Given the description of an element on the screen output the (x, y) to click on. 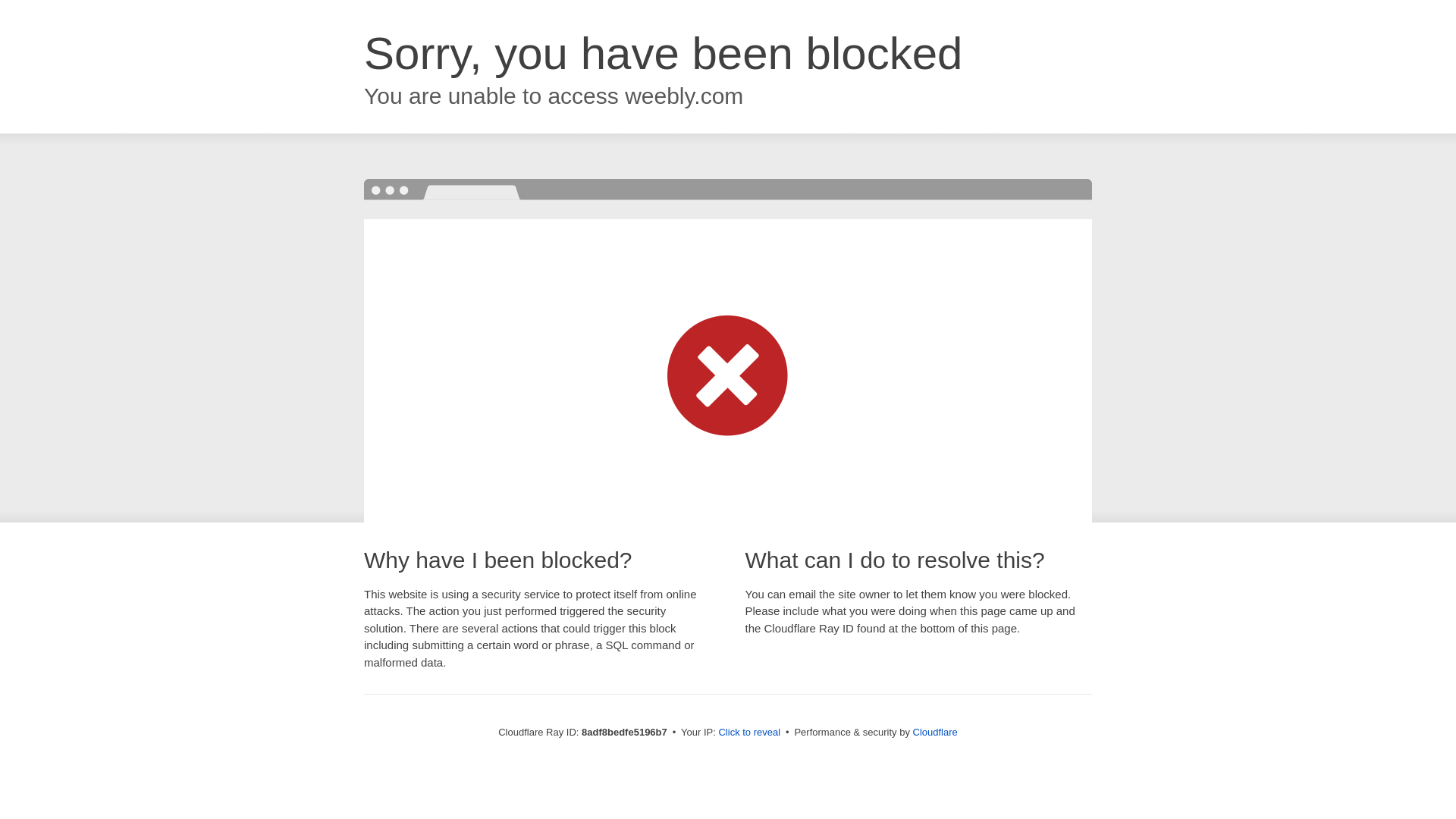
Click to reveal (748, 732)
Cloudflare (935, 731)
